Given the description of an element on the screen output the (x, y) to click on. 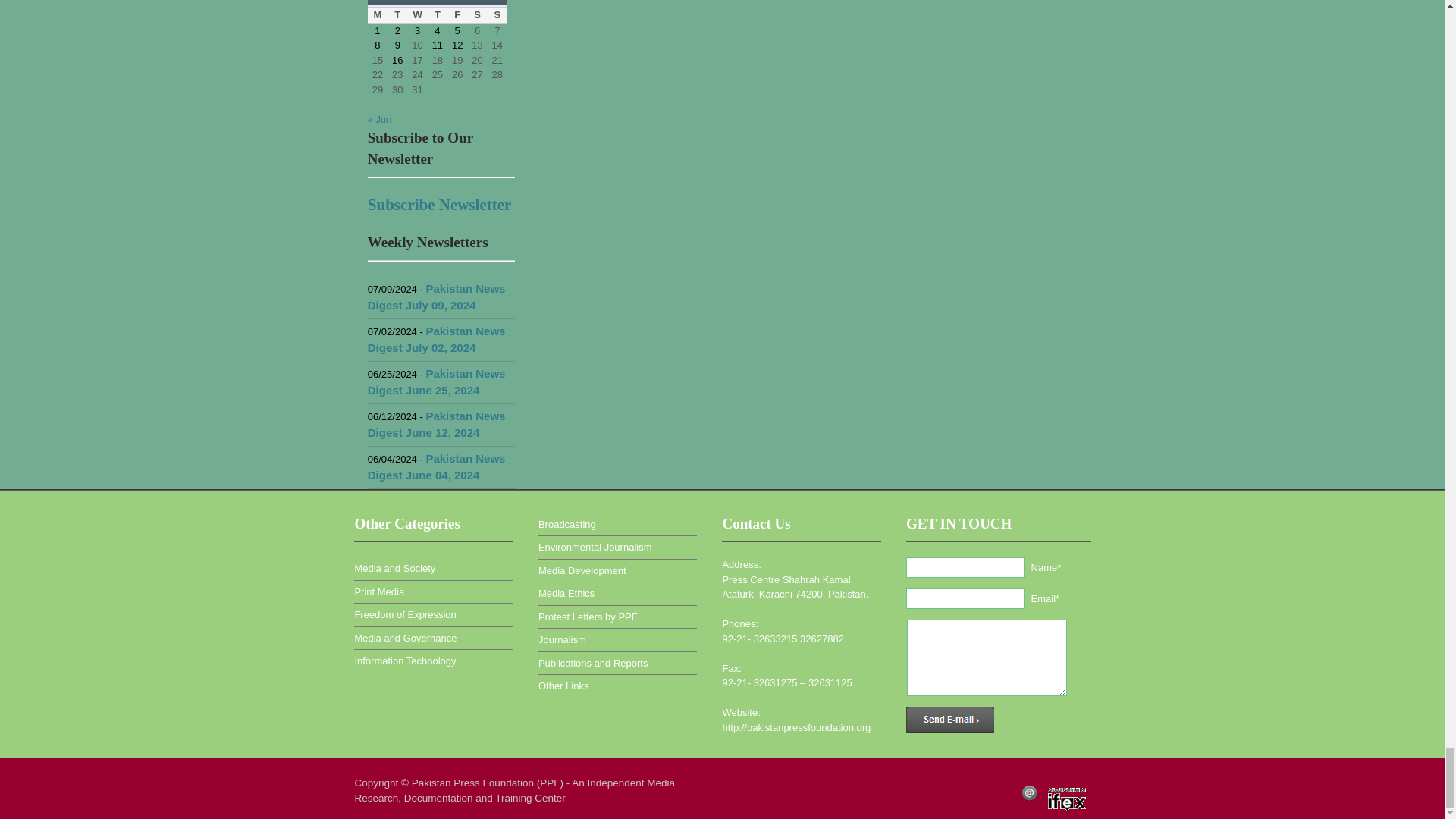
Wednesday (416, 15)
Monday (377, 15)
Saturday (476, 15)
Friday (456, 15)
Tuesday (397, 15)
Thursday (437, 15)
Sunday (496, 15)
